Given the description of an element on the screen output the (x, y) to click on. 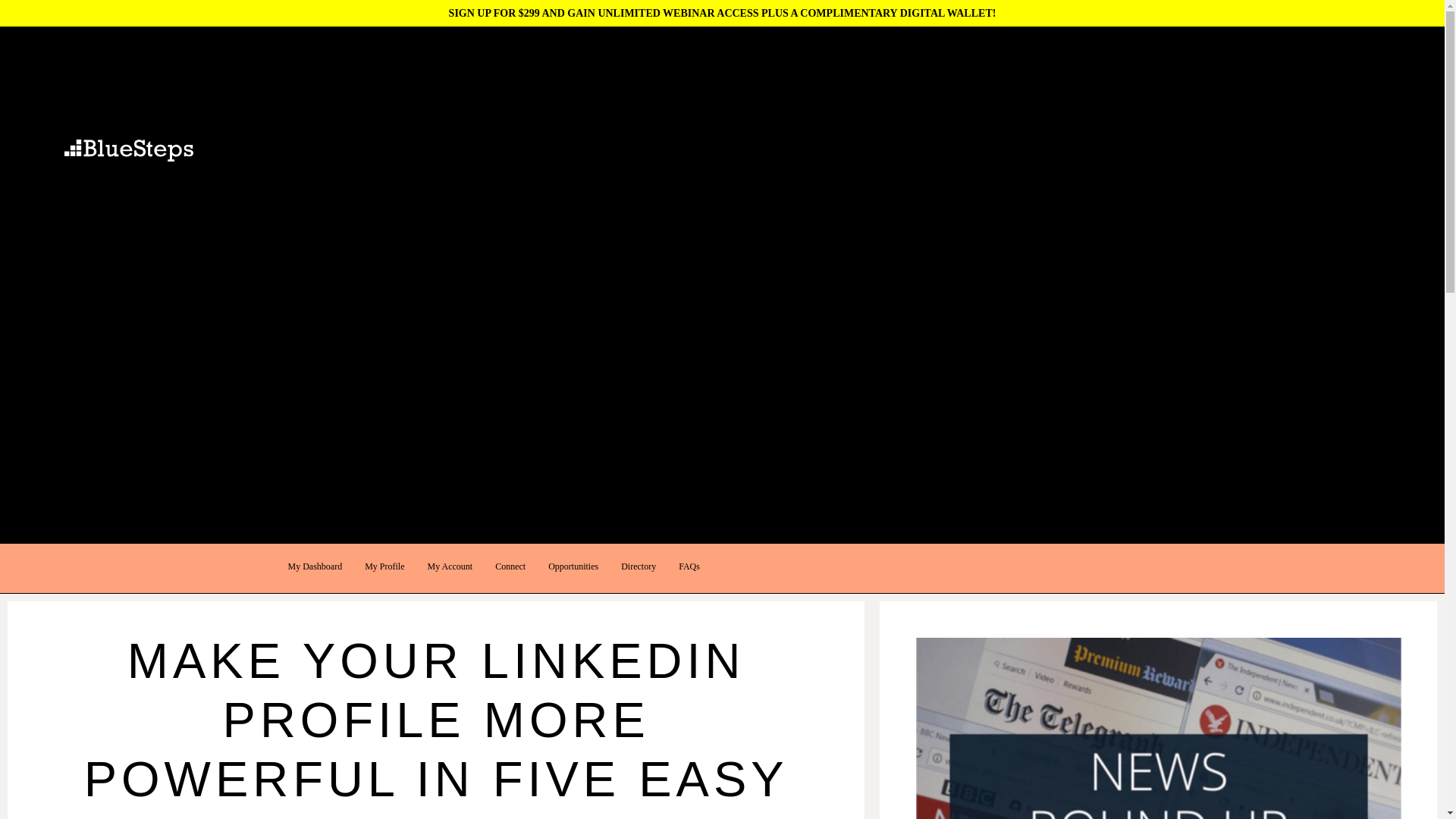
FAQs (688, 565)
Past Webinars (47, 441)
Coaching (38, 271)
Compare Products (39, 195)
Executive Blog (32, 460)
Opportunities (573, 565)
My Cart (17, 176)
All Member Benefits (62, 252)
SEARCH (21, 111)
Skip to Content (33, 35)
My Profile (383, 565)
Webinars (20, 404)
VeriBlue Wallet (51, 290)
Directory (638, 565)
Connect (510, 565)
